Given the description of an element on the screen output the (x, y) to click on. 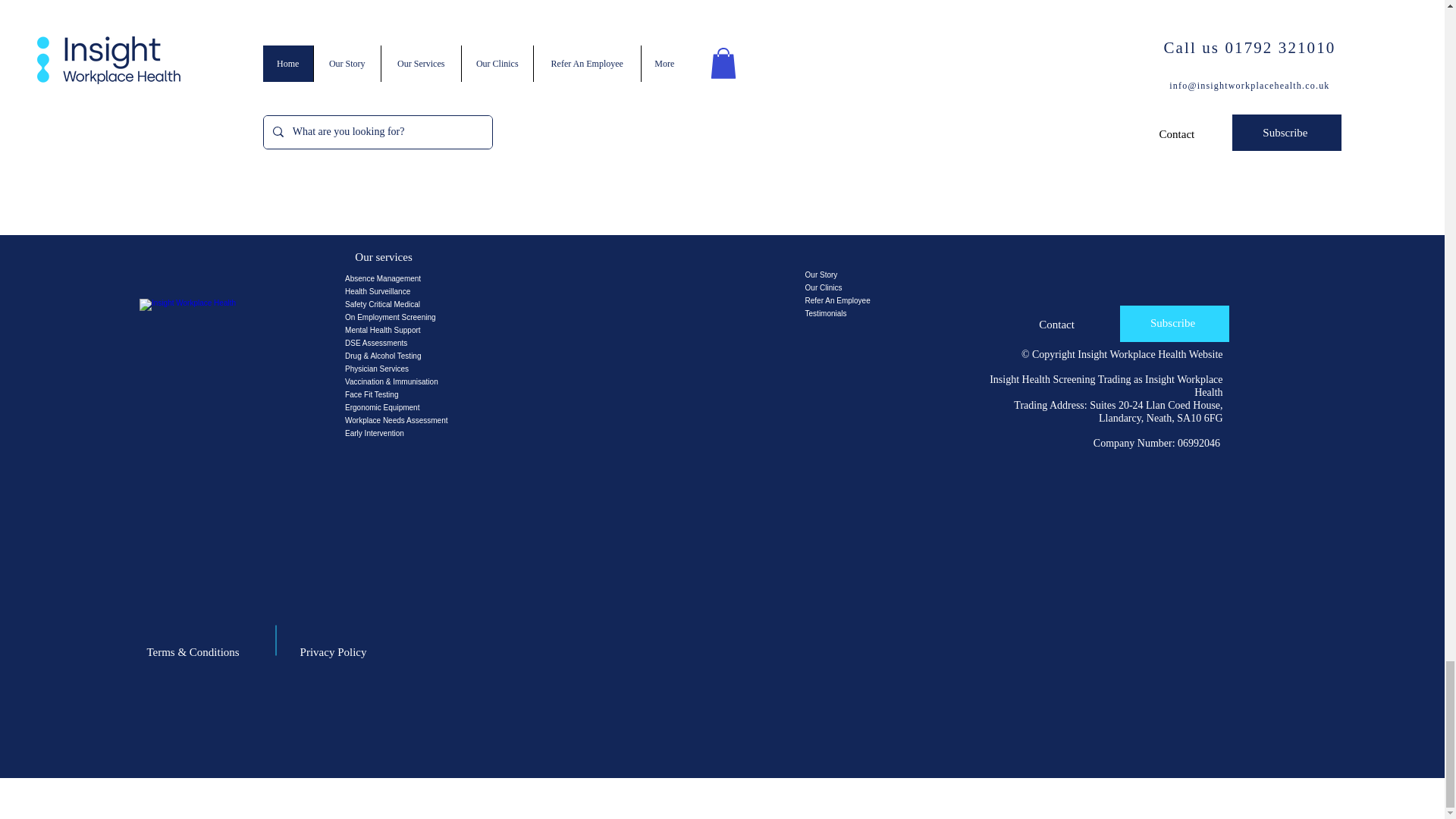
cyber-essentials-plus-badge-high-res.png (833, 75)
cyber-essentials-plus-badge-high-res.png (568, 159)
